Given the description of an element on the screen output the (x, y) to click on. 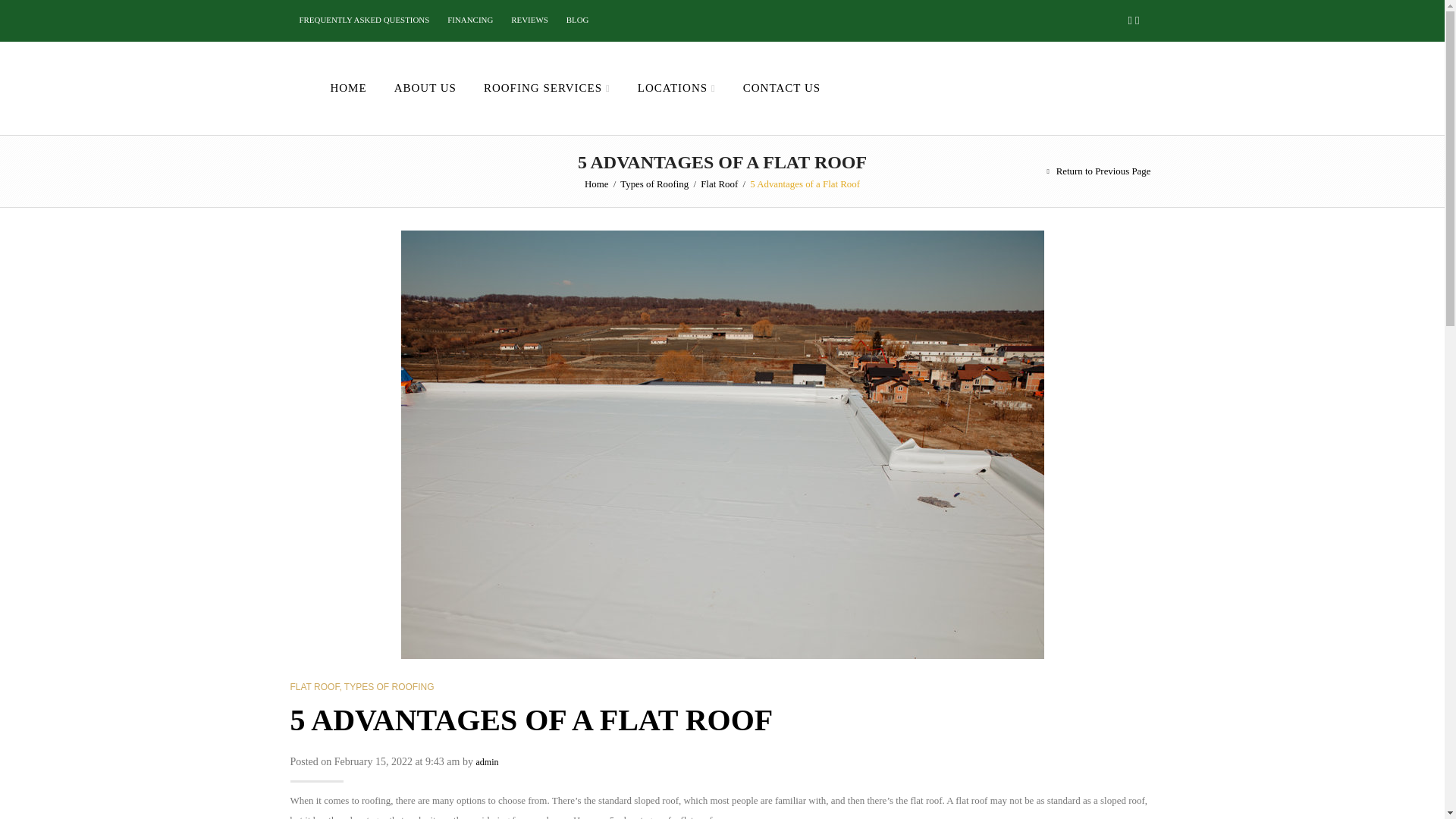
Posts by admin (486, 761)
